Given the description of an element on the screen output the (x, y) to click on. 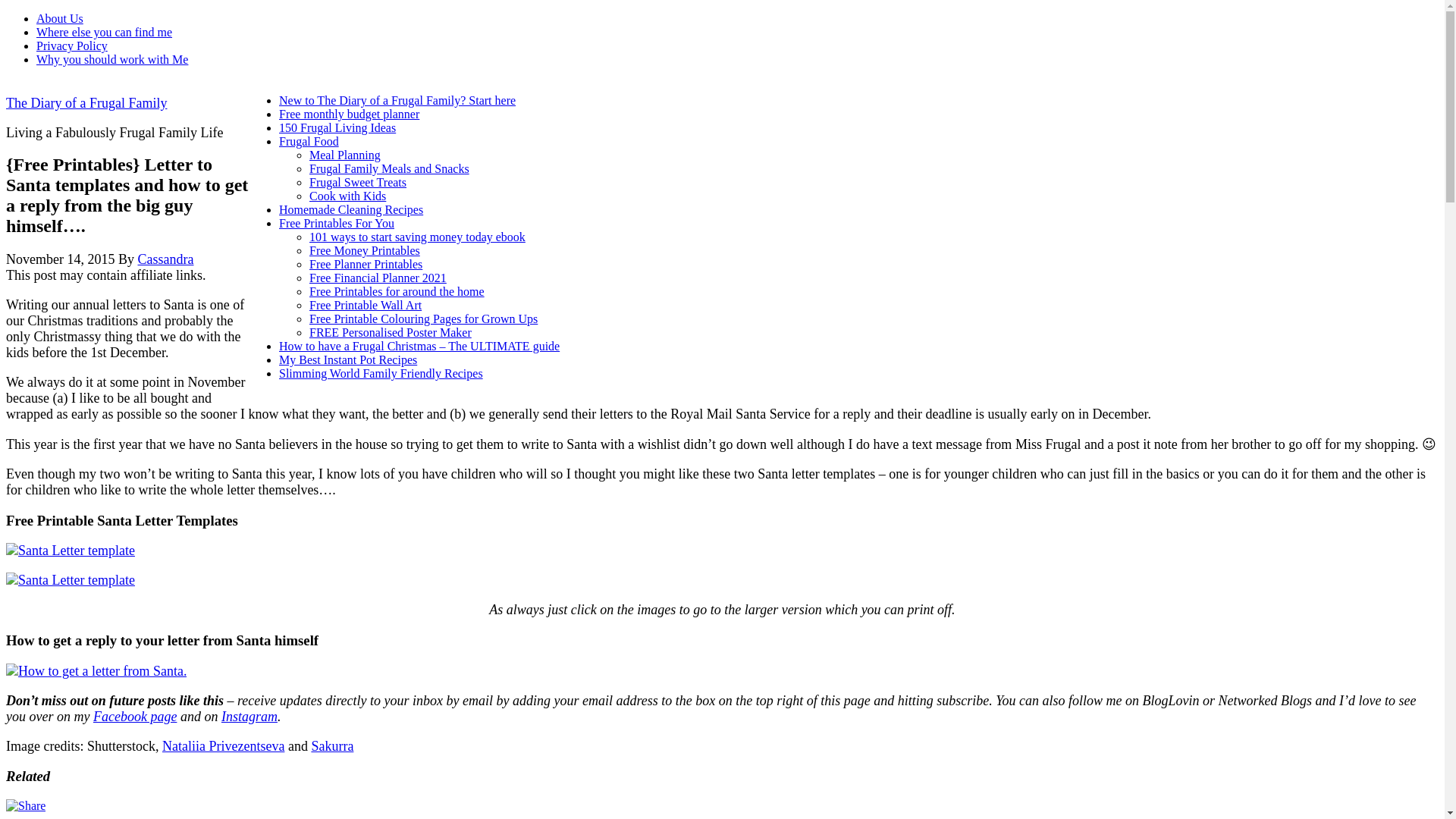
Privacy Policy (71, 45)
Free Printable Wall Art (365, 305)
Free Planner Printables (365, 264)
New to The Diary of a Frugal Family? Start here (397, 100)
Slimming World Family Friendly Recipes (381, 373)
Free Printables for around the home (396, 291)
Instagram (249, 716)
Free Printables For You (336, 223)
My Best Instant Pot Recipes (347, 359)
Cook with Kids (346, 195)
